Given the description of an element on the screen output the (x, y) to click on. 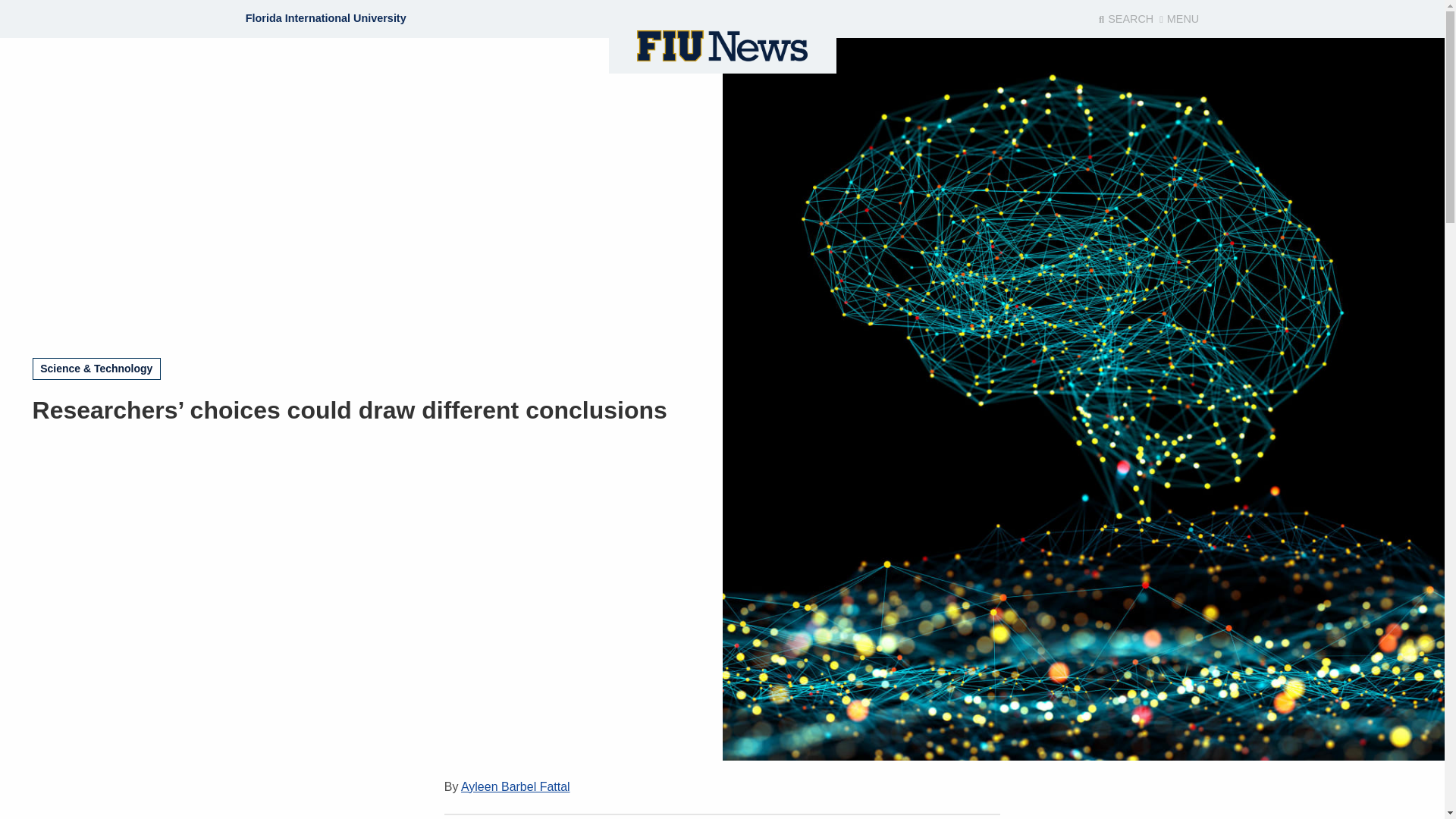
SEARCH (1125, 19)
Ayleen Barbel Fattal (515, 786)
Florida International University (326, 18)
MENU (1178, 19)
